Given the description of an element on the screen output the (x, y) to click on. 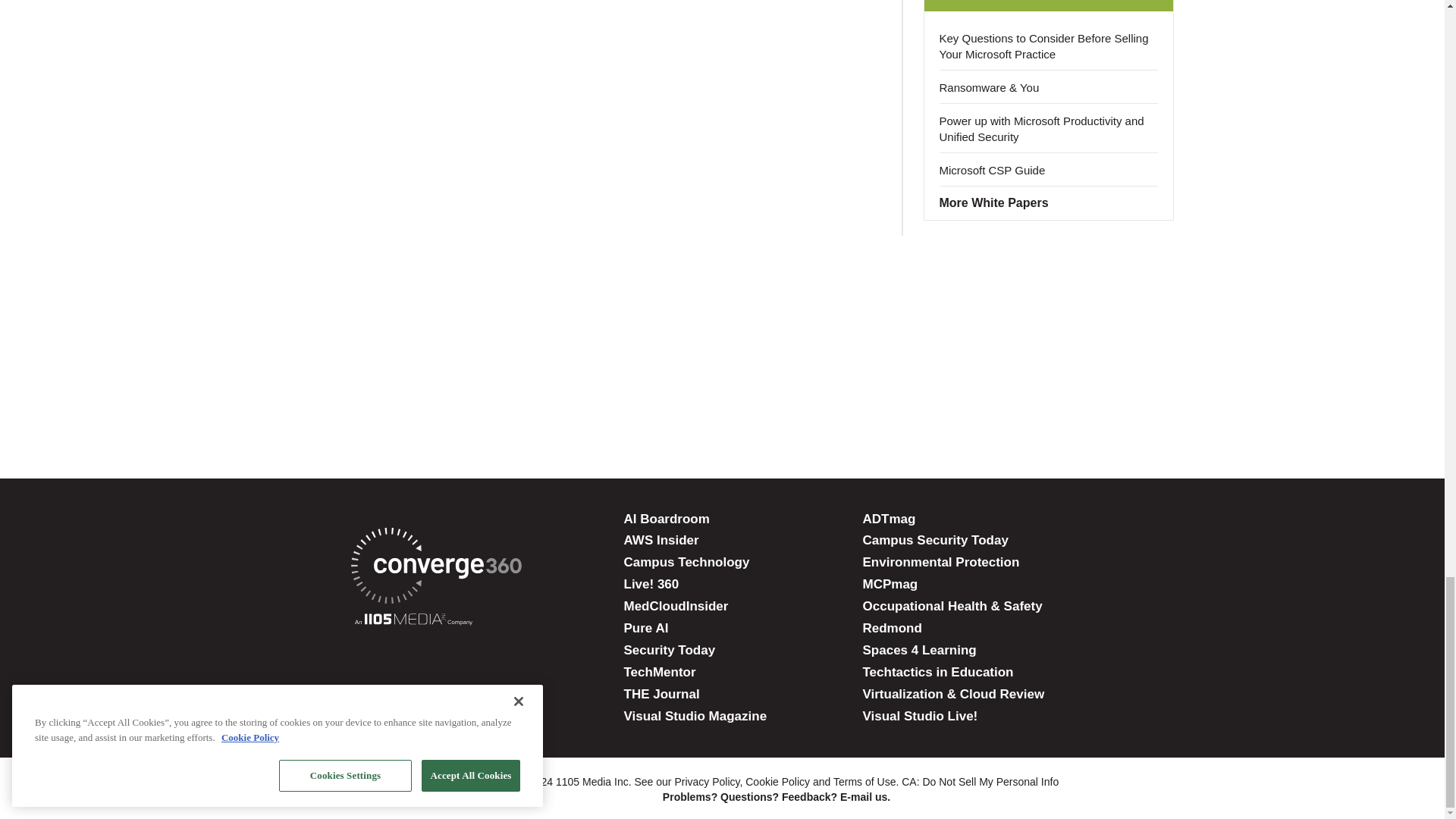
3rd party ad content (721, 288)
3rd party ad content (721, 386)
